Given the description of an element on the screen output the (x, y) to click on. 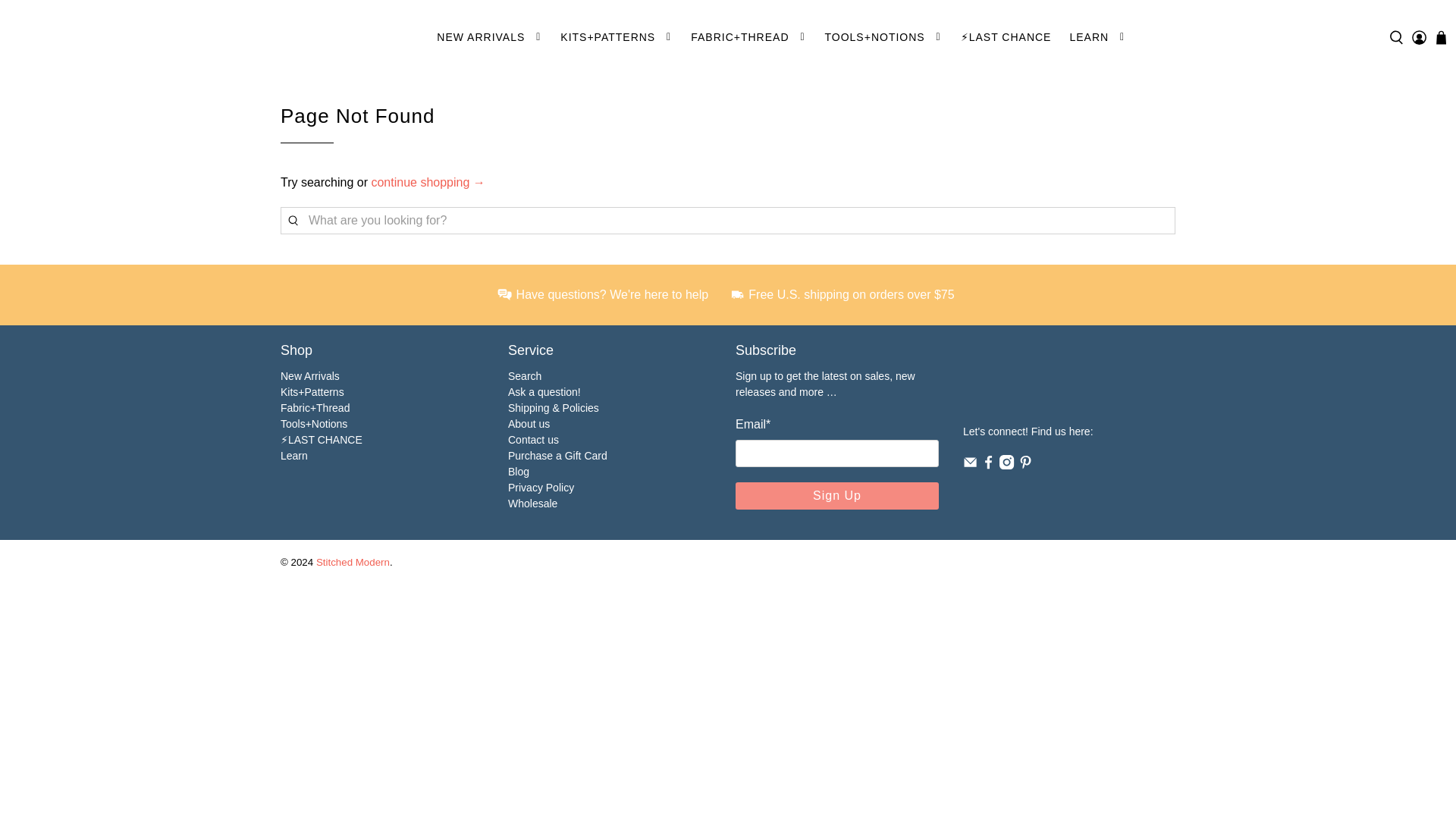
Stitched Modern on Pinterest (1024, 465)
Email Stitched Modern (969, 465)
Stitched Modern (92, 37)
Stitched Modern on Facebook (988, 465)
LEARN (1097, 37)
Stitched Modern on Instagram (1005, 465)
NEW ARRIVALS (489, 37)
Stitched Modern (1047, 382)
